Given the description of an element on the screen output the (x, y) to click on. 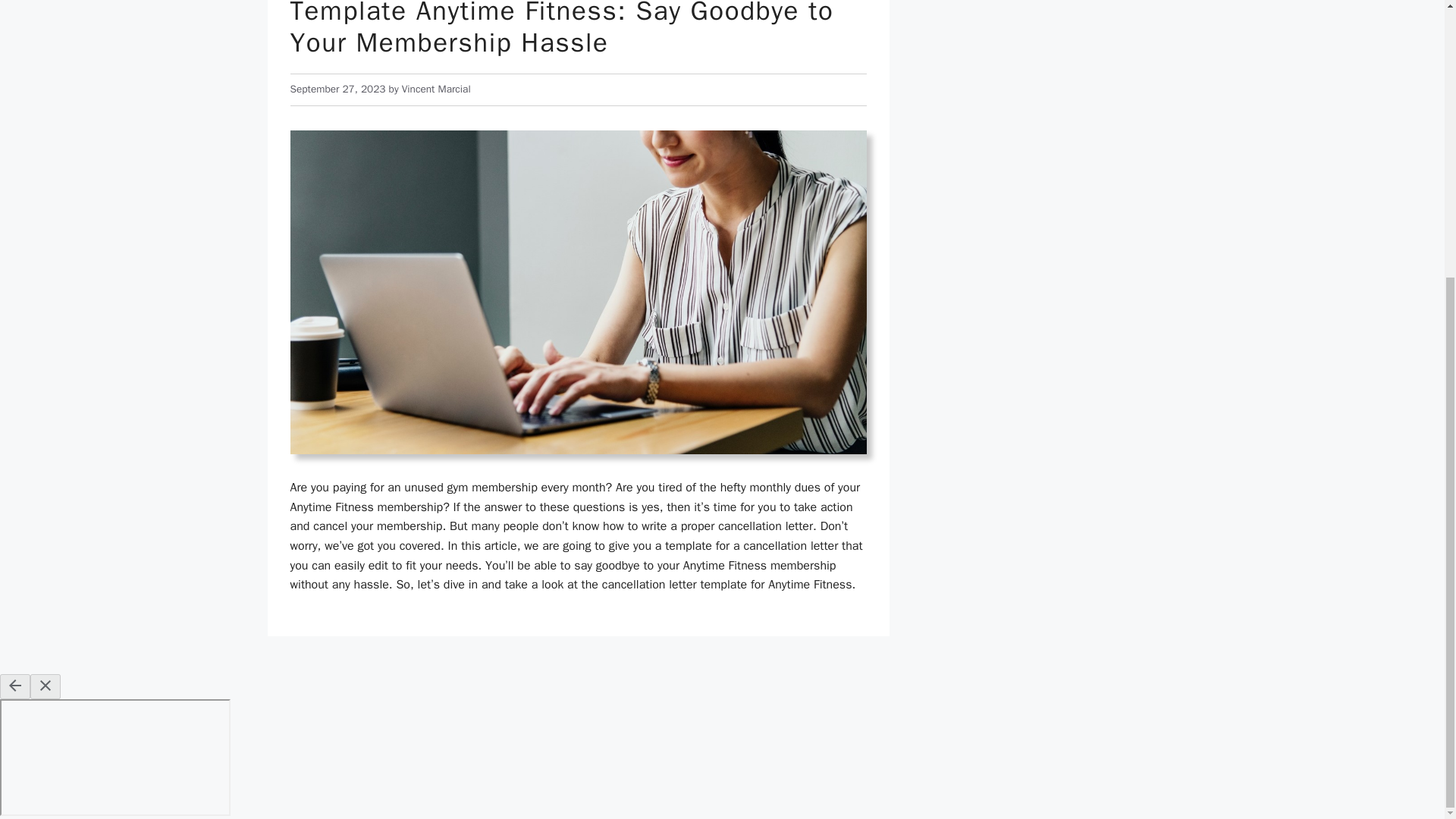
View all posts by Vincent Marcial (435, 88)
Vincent Marcial (435, 88)
